Given the description of an element on the screen output the (x, y) to click on. 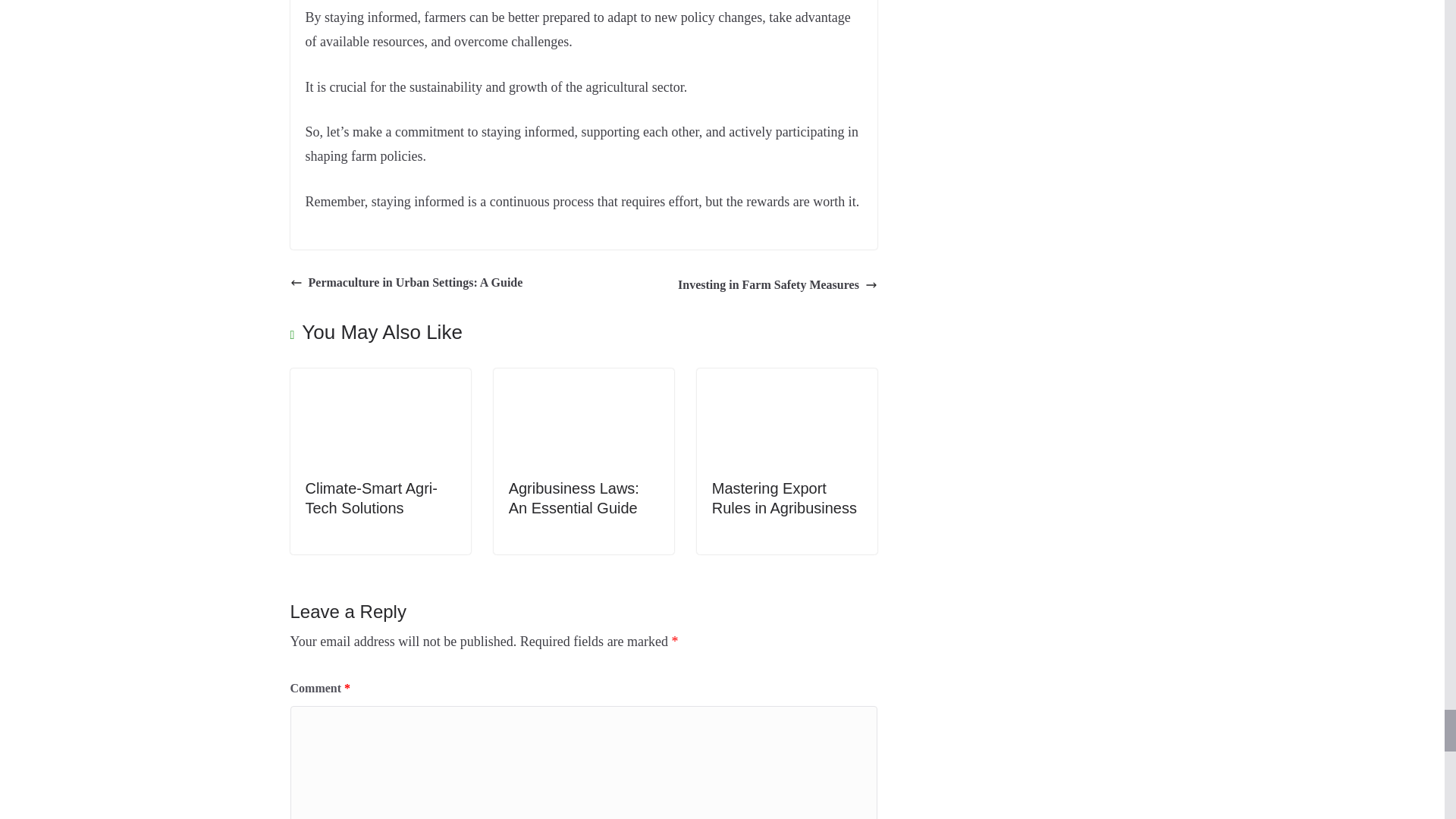
Permaculture in Urban Settings: A Guide (405, 282)
Investing in Farm Safety Measures (777, 285)
